Given the description of an element on the screen output the (x, y) to click on. 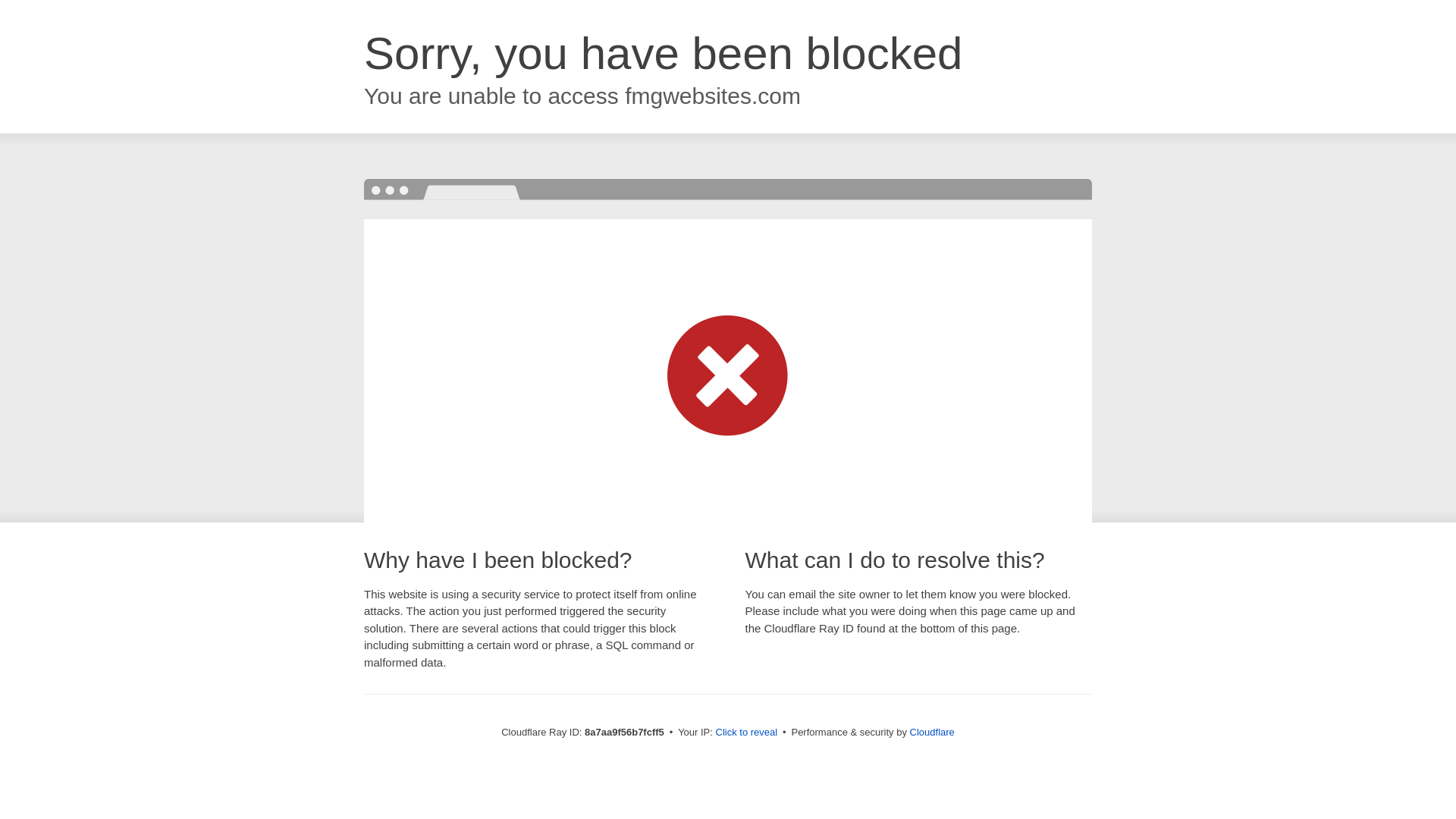
Click to reveal (746, 732)
Cloudflare (932, 731)
